Given the description of an element on the screen output the (x, y) to click on. 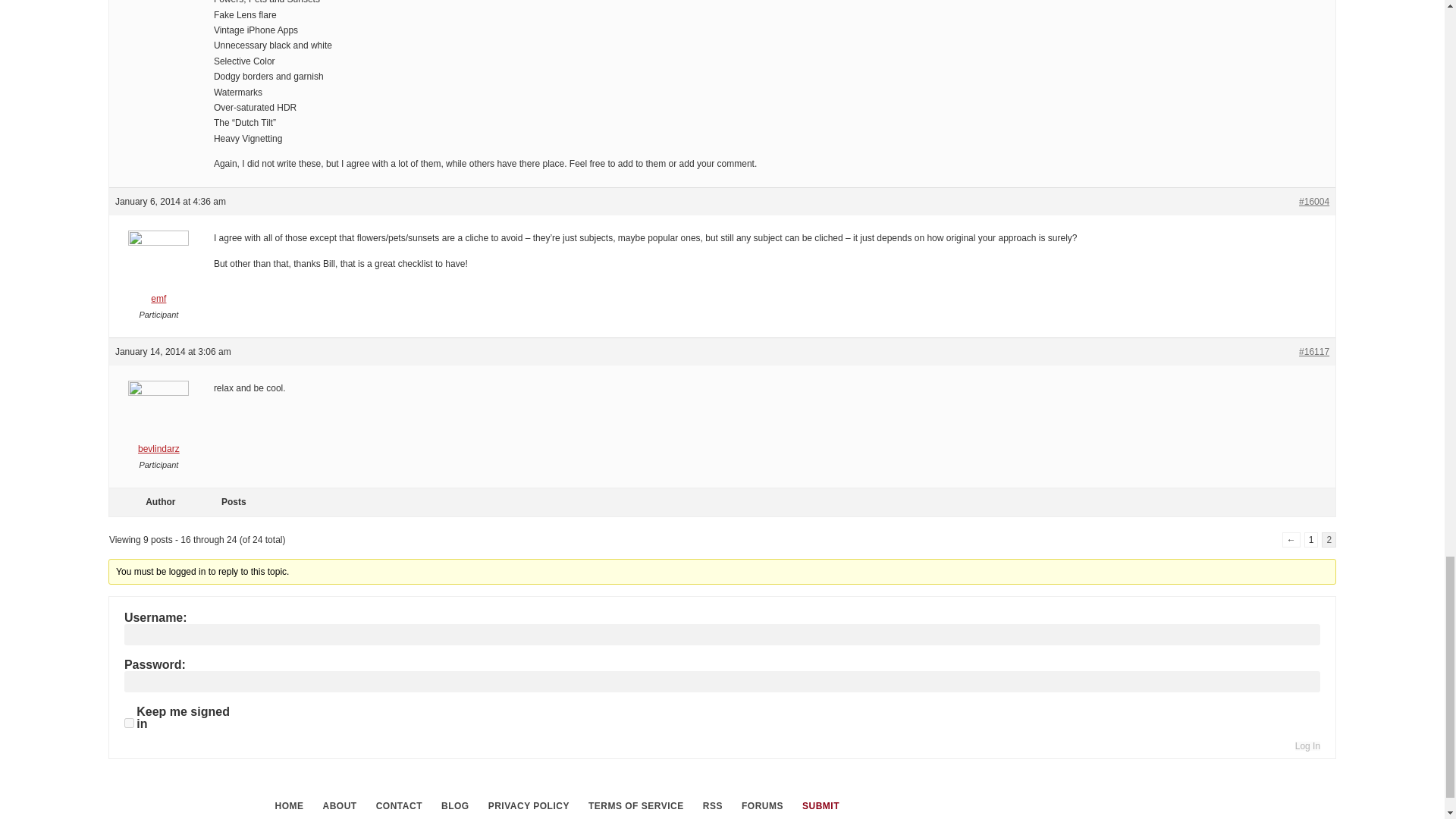
forever (128, 723)
1 (1311, 539)
bevlindarz (158, 421)
View bevlindarz's profile (158, 421)
emf (158, 271)
View emf's profile (158, 271)
Log In (1307, 746)
